Given the description of an element on the screen output the (x, y) to click on. 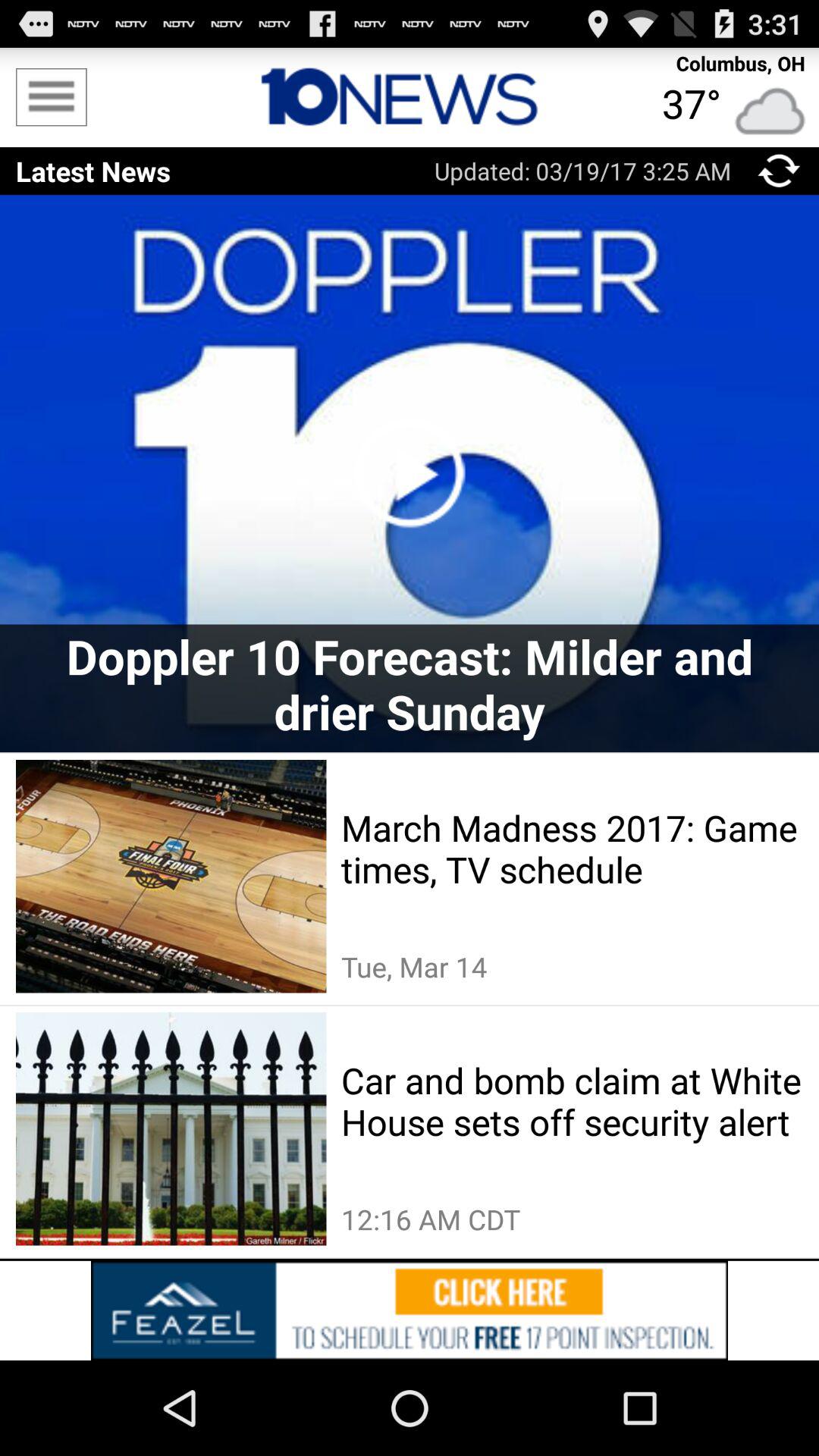
open advert (409, 1310)
